Given the description of an element on the screen output the (x, y) to click on. 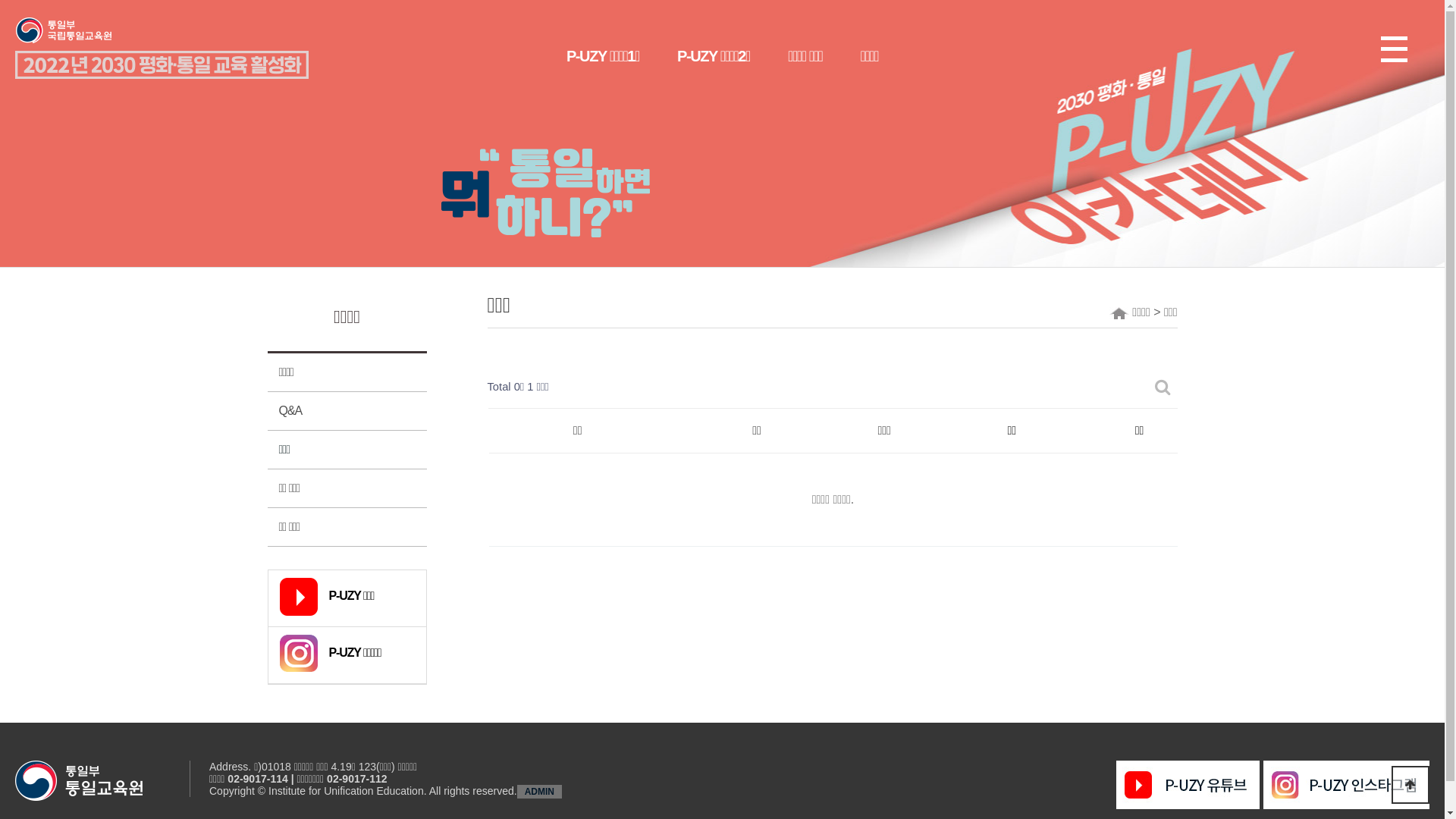
Q&A Element type: text (346, 410)
ADMIN Element type: text (539, 790)
